Given the description of an element on the screen output the (x, y) to click on. 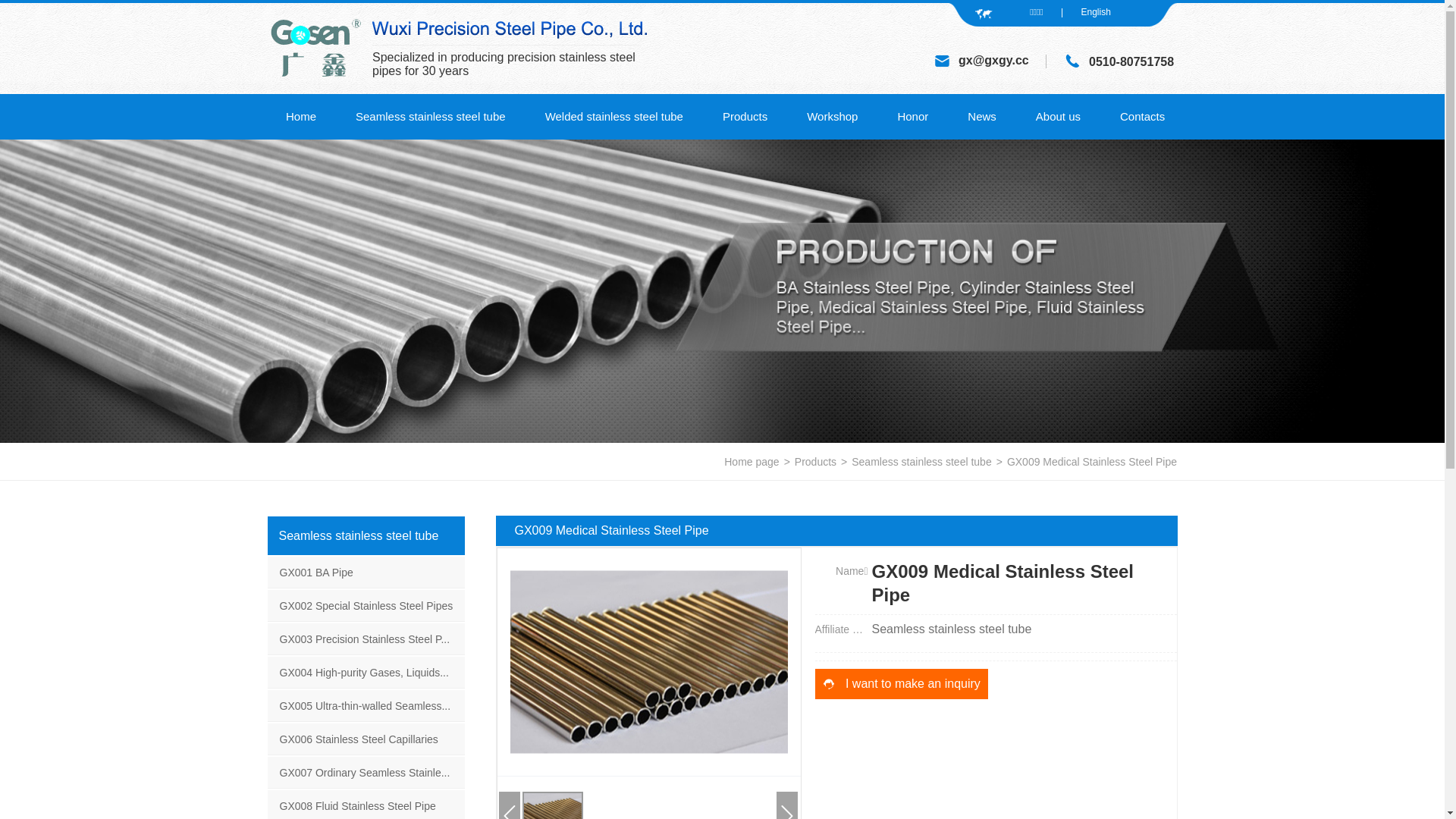
Seamless stainless steel tube
Seamless stainless steel tube Element type: text (430, 116)
JM Element type: hover (510, 26)
GX008 Fluid Stainless Steel Pipe Element type: text (366, 807)
JM Element type: hover (941, 60)
English Element type: text (1095, 11)
Seamless stainless steel tube Element type: text (952, 628)
Honor
Honor Element type: text (912, 116)
GX005 Ultra-thin-walled Seamless... Element type: text (366, 707)
About us
About us Element type: text (1058, 116)
GX007 Ordinary Seamless Stainle... Element type: text (366, 774)
Seamless stainless steel tube Element type: text (921, 461)
JM Element type: hover (1071, 60)
Contacts
Contacts Element type: text (1142, 116)
Products
Products Element type: text (744, 116)
GX001 BA Pipe Element type: text (366, 573)
Welded stainless steel tube
Welded stainless steel tube Element type: text (613, 116)
GX003 Precision Stainless Steel P... Element type: text (366, 640)
Home page Element type: text (751, 461)
Home
Home Element type: text (300, 116)
gx@gxgy.cc Element type: text (993, 61)
GX002 Special Stainless Steel Pipes Element type: text (366, 607)
JM Element type: hover (314, 48)
Products Element type: text (815, 461)
Seamless stainless steel tube Element type: text (365, 534)
News
News Element type: text (981, 116)
Workshop
Workshop Element type: text (832, 116)
GX006 Stainless Steel Capillaries Element type: text (366, 740)
GX004 High-purity Gases, Liquids... Element type: text (366, 674)
